Given the description of an element on the screen output the (x, y) to click on. 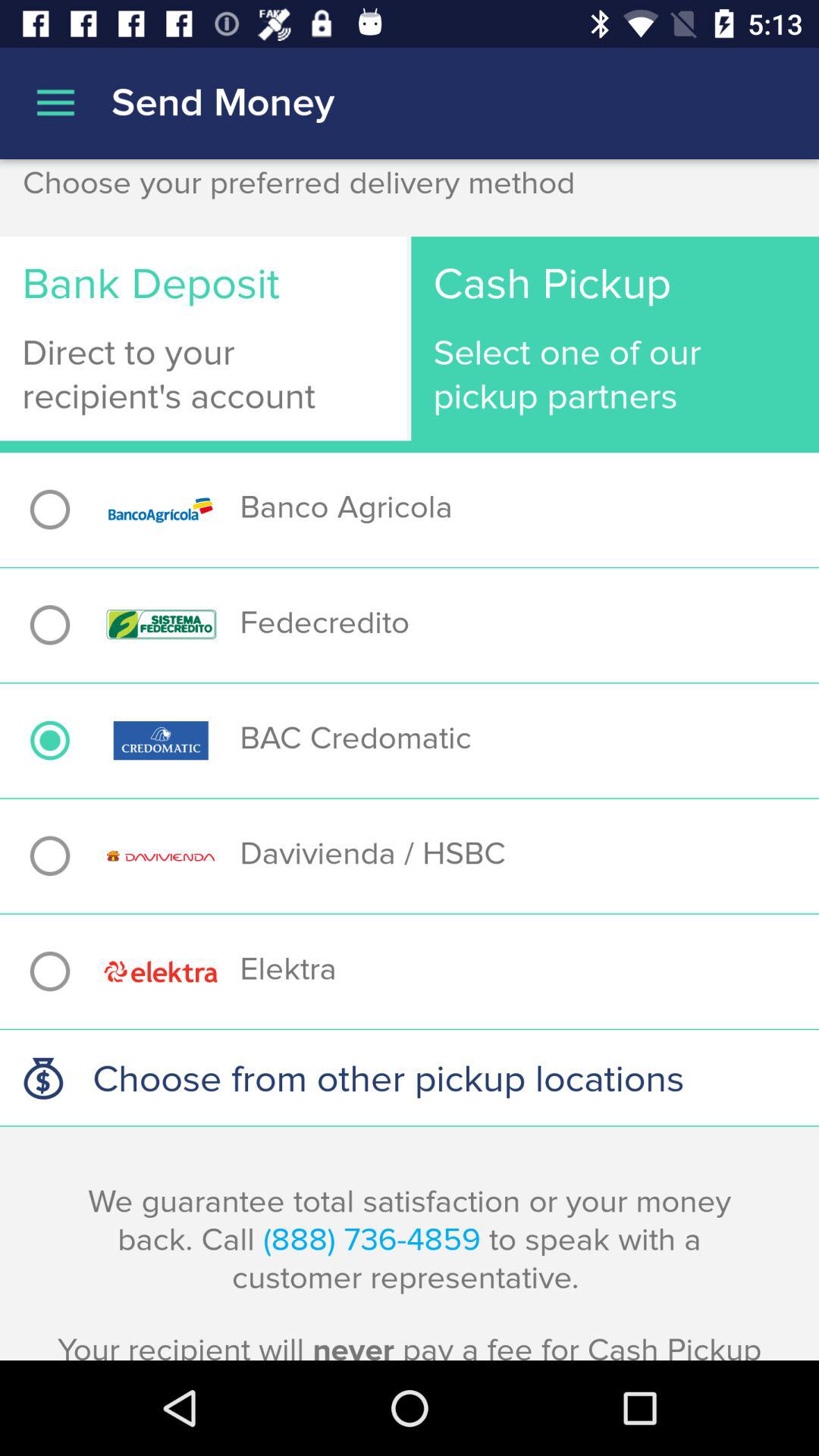
launch the choose from other (409, 1077)
